Given the description of an element on the screen output the (x, y) to click on. 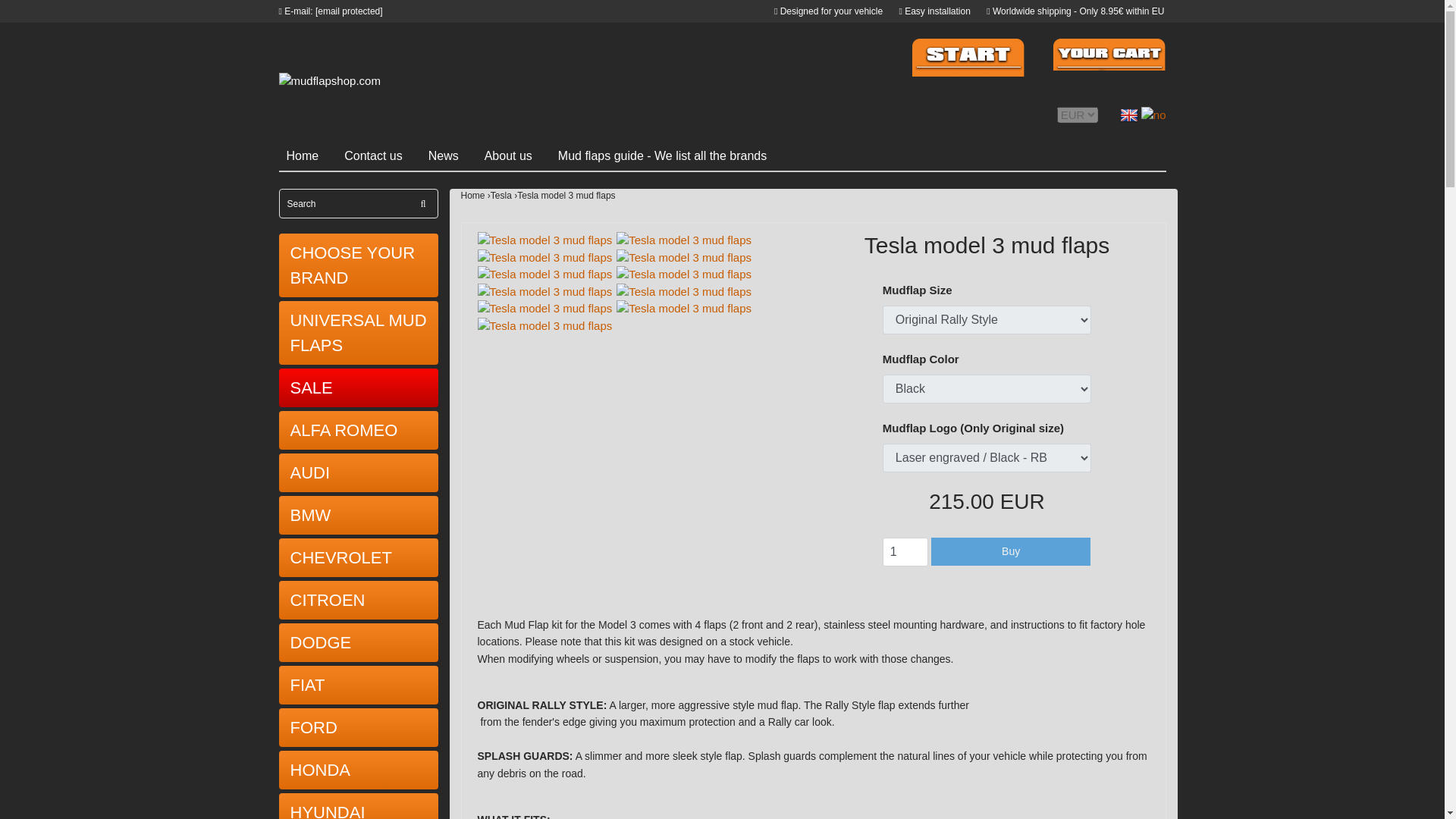
Tesla model 3 mud flaps (544, 257)
Home (311, 159)
About us (517, 159)
Tesla (503, 195)
mudflapshop.com (329, 79)
Tesla model 3 mud flaps (544, 308)
Tesla model 3 mud flaps (683, 308)
Mud flaps guide -  We list all the brands (670, 159)
Tesla model 3 mud flaps (544, 292)
Tesla model 3 mud flaps (544, 274)
